Given the description of an element on the screen output the (x, y) to click on. 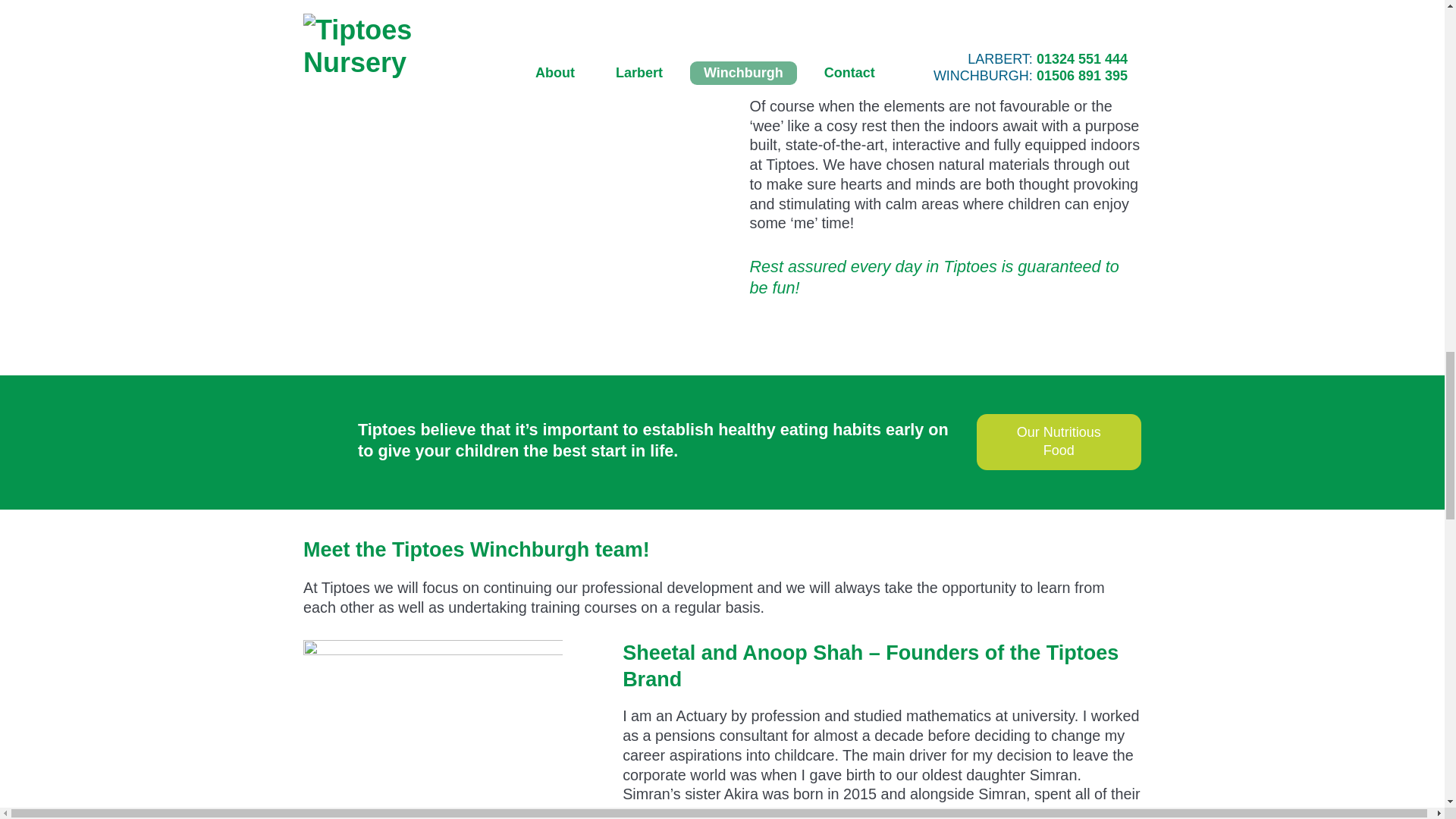
Our Nutritious Food (1058, 442)
